Given the description of an element on the screen output the (x, y) to click on. 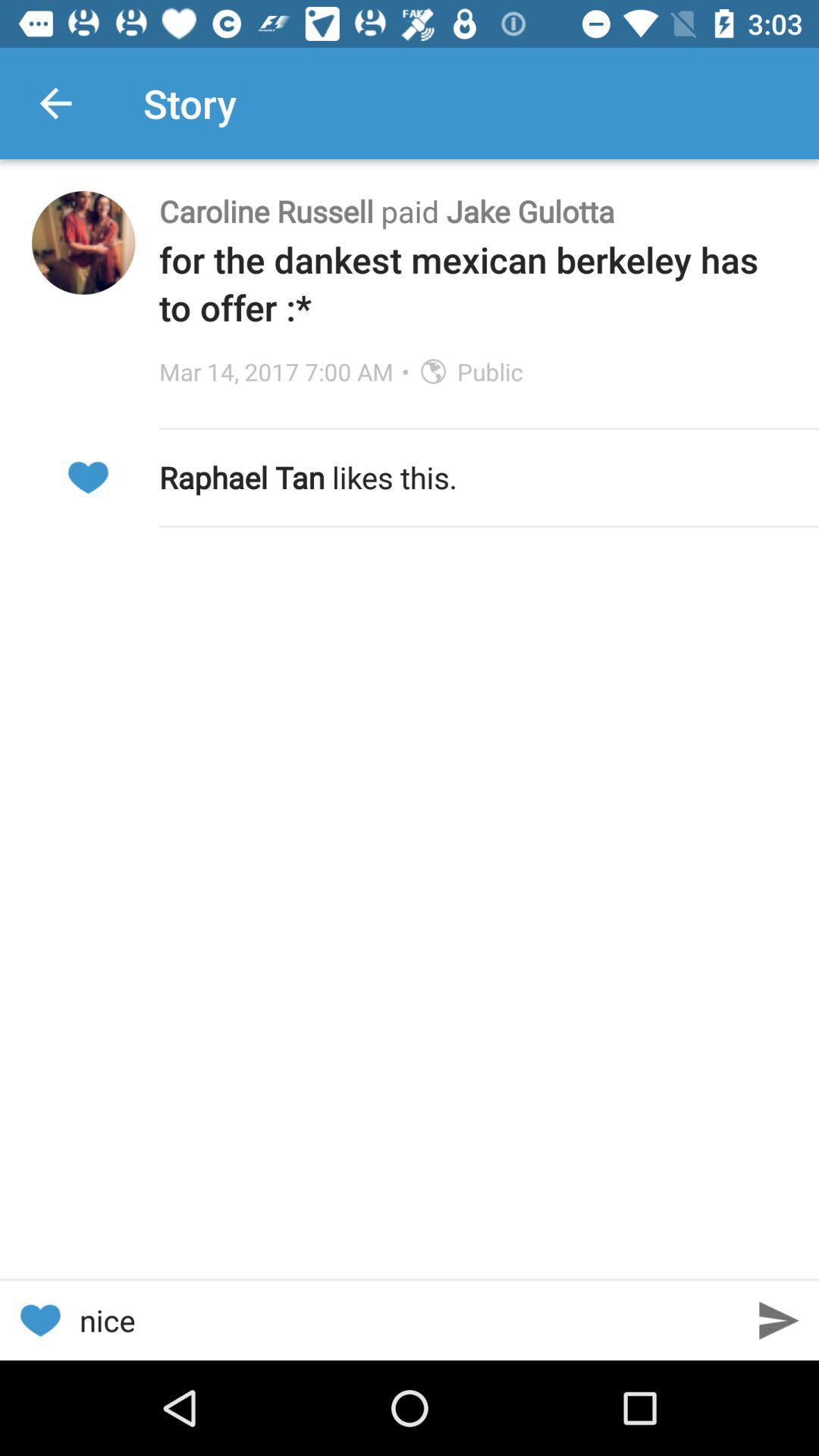
like the page (39, 1320)
